Given the description of an element on the screen output the (x, y) to click on. 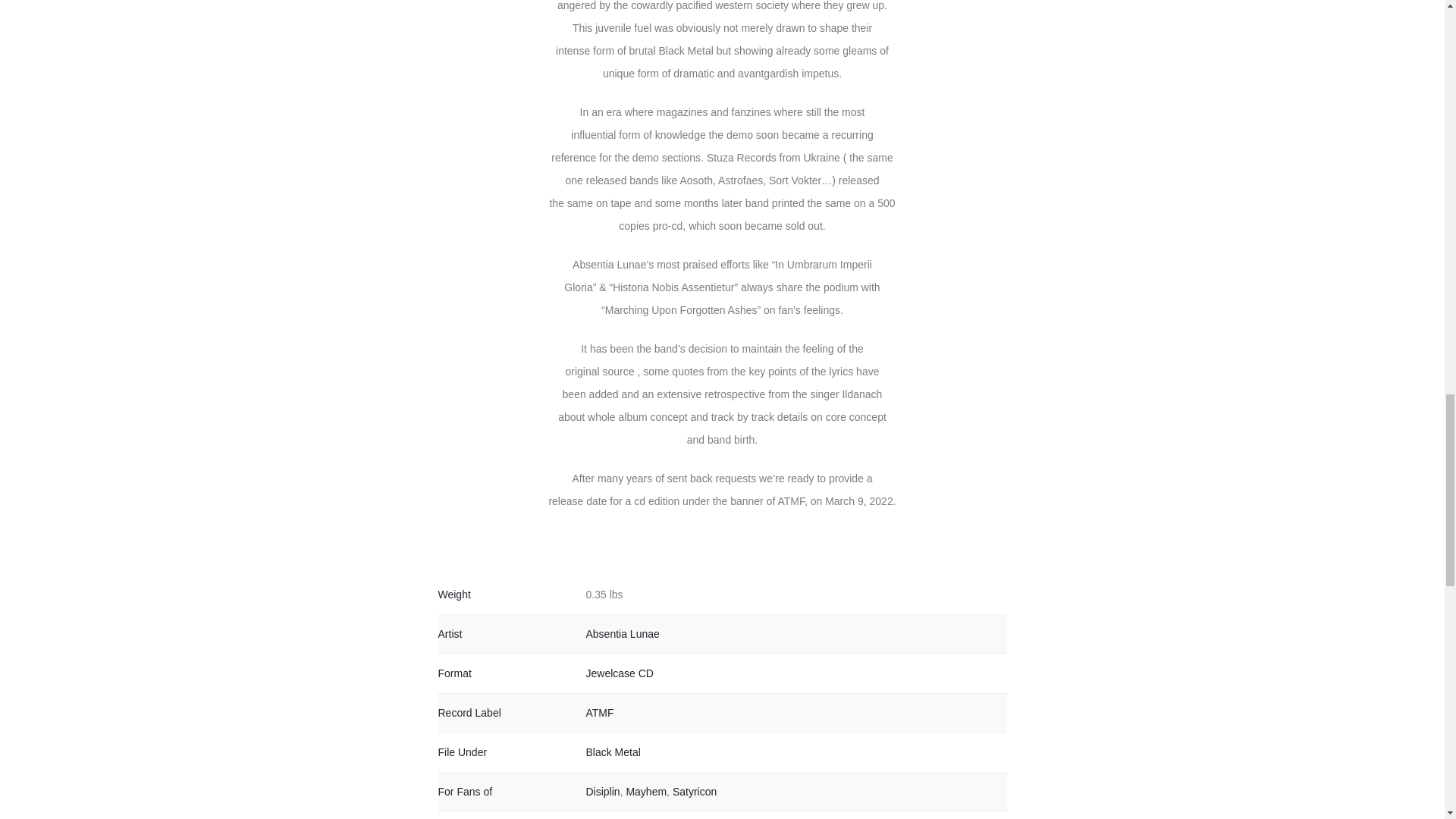
Disiplin (602, 791)
ATMF (598, 712)
Black Metal (612, 752)
Satyricon (694, 791)
Jewelcase CD (618, 673)
Absentia Lunae (622, 633)
Mayhem (646, 791)
